Given the description of an element on the screen output the (x, y) to click on. 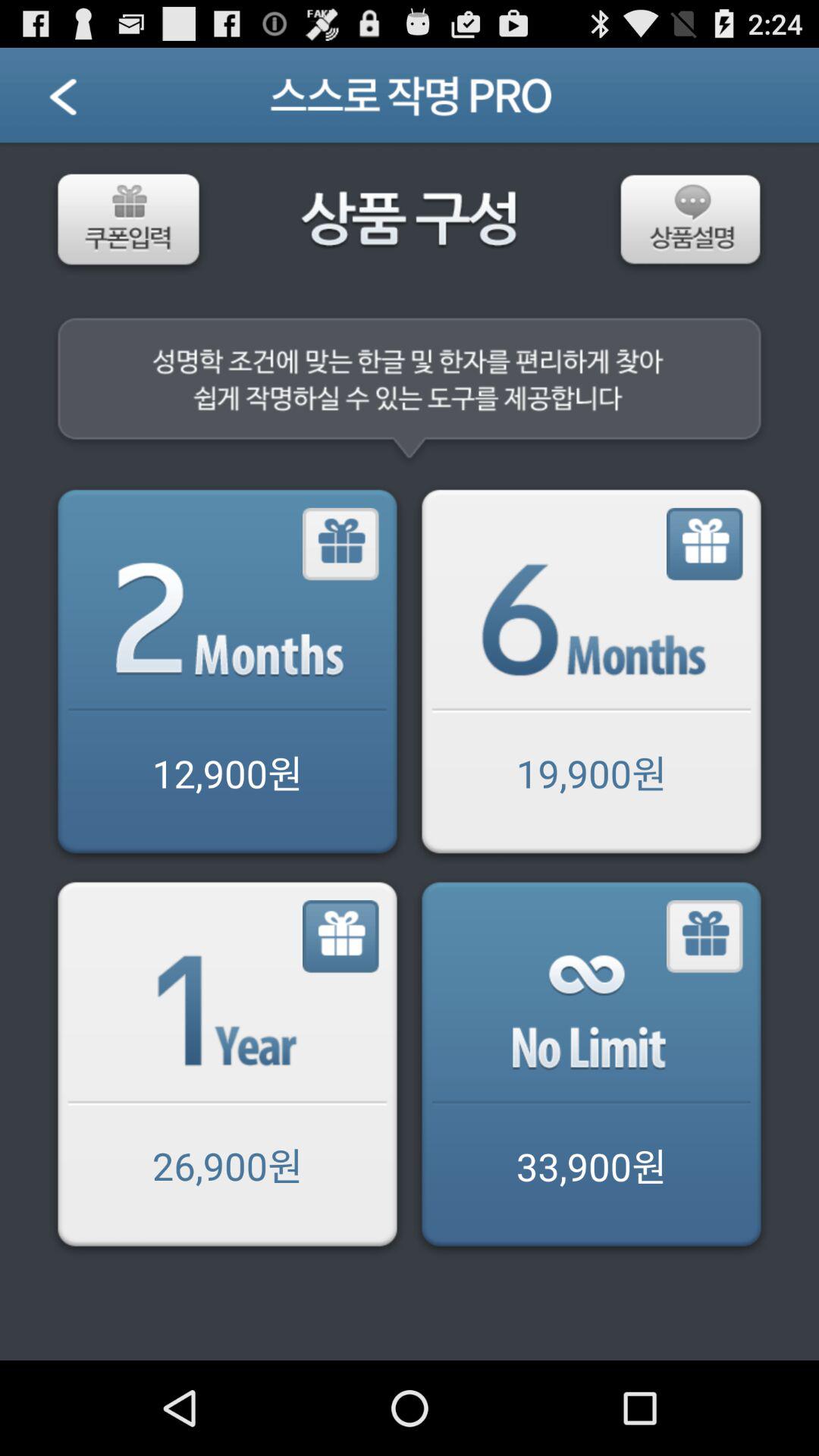
go to previous (81, 101)
